Given the description of an element on the screen output the (x, y) to click on. 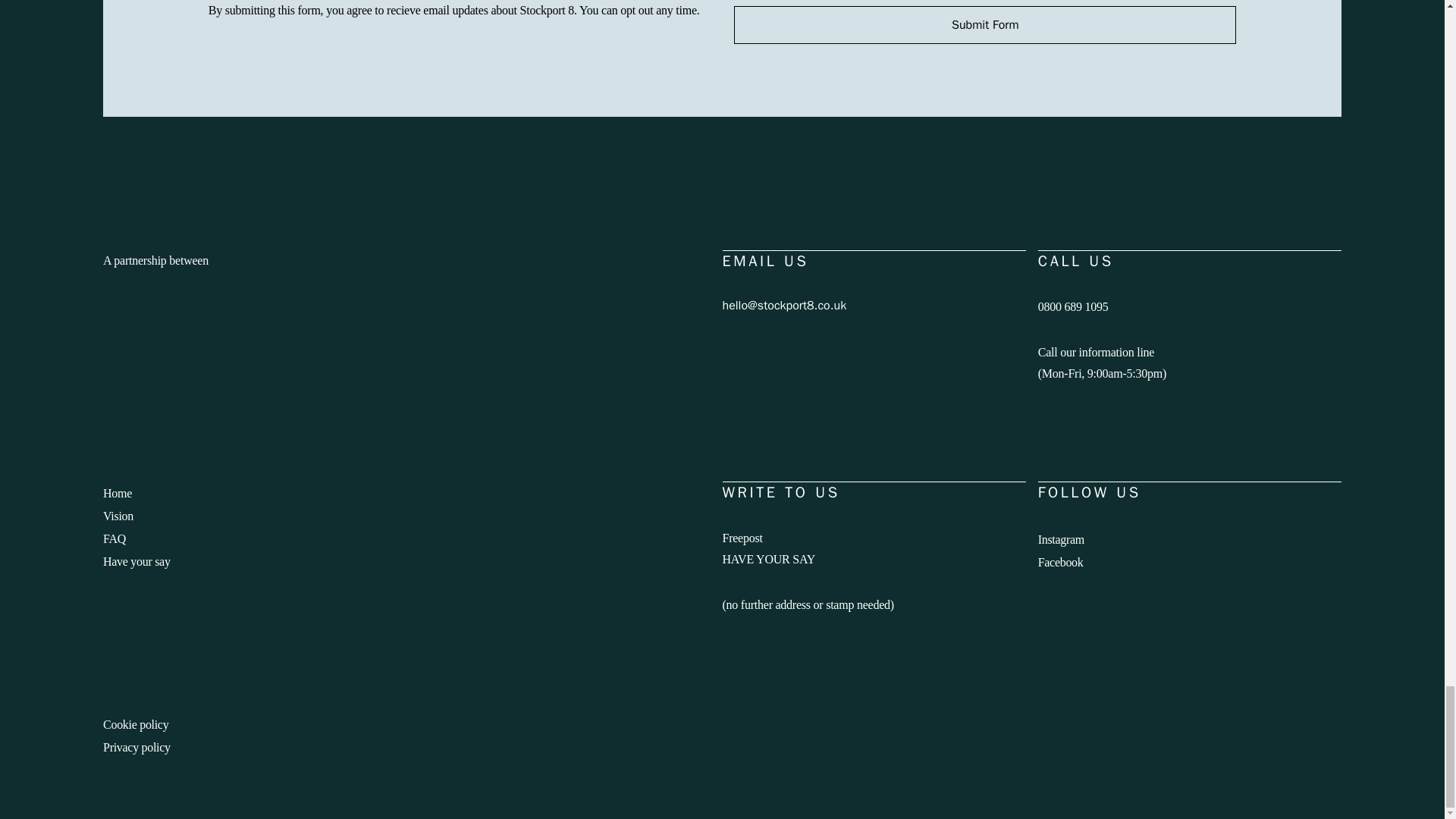
Facebook (1060, 562)
Instagram (1061, 539)
Home (117, 492)
Submit Form (984, 24)
Privacy policy (136, 747)
FAQ (114, 538)
Vision (118, 515)
Cookie policy (135, 724)
Have your say (136, 561)
